Given the description of an element on the screen output the (x, y) to click on. 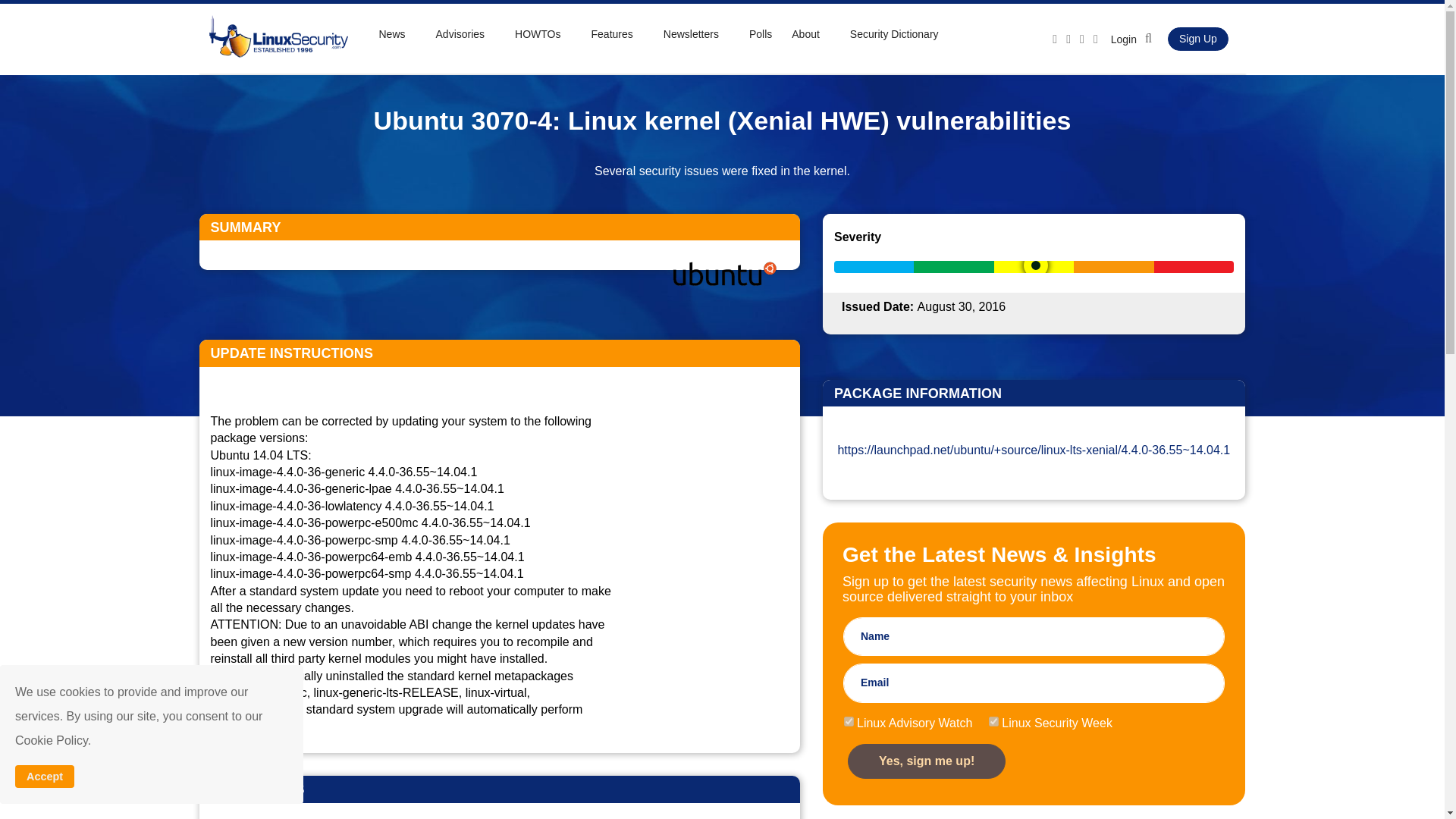
HOWTOs (551, 33)
News (405, 33)
News (405, 33)
Linux Security (275, 37)
Advisories (473, 33)
Features (625, 33)
Yes, sign me up! (926, 760)
Advisories (473, 33)
